Given the description of an element on the screen output the (x, y) to click on. 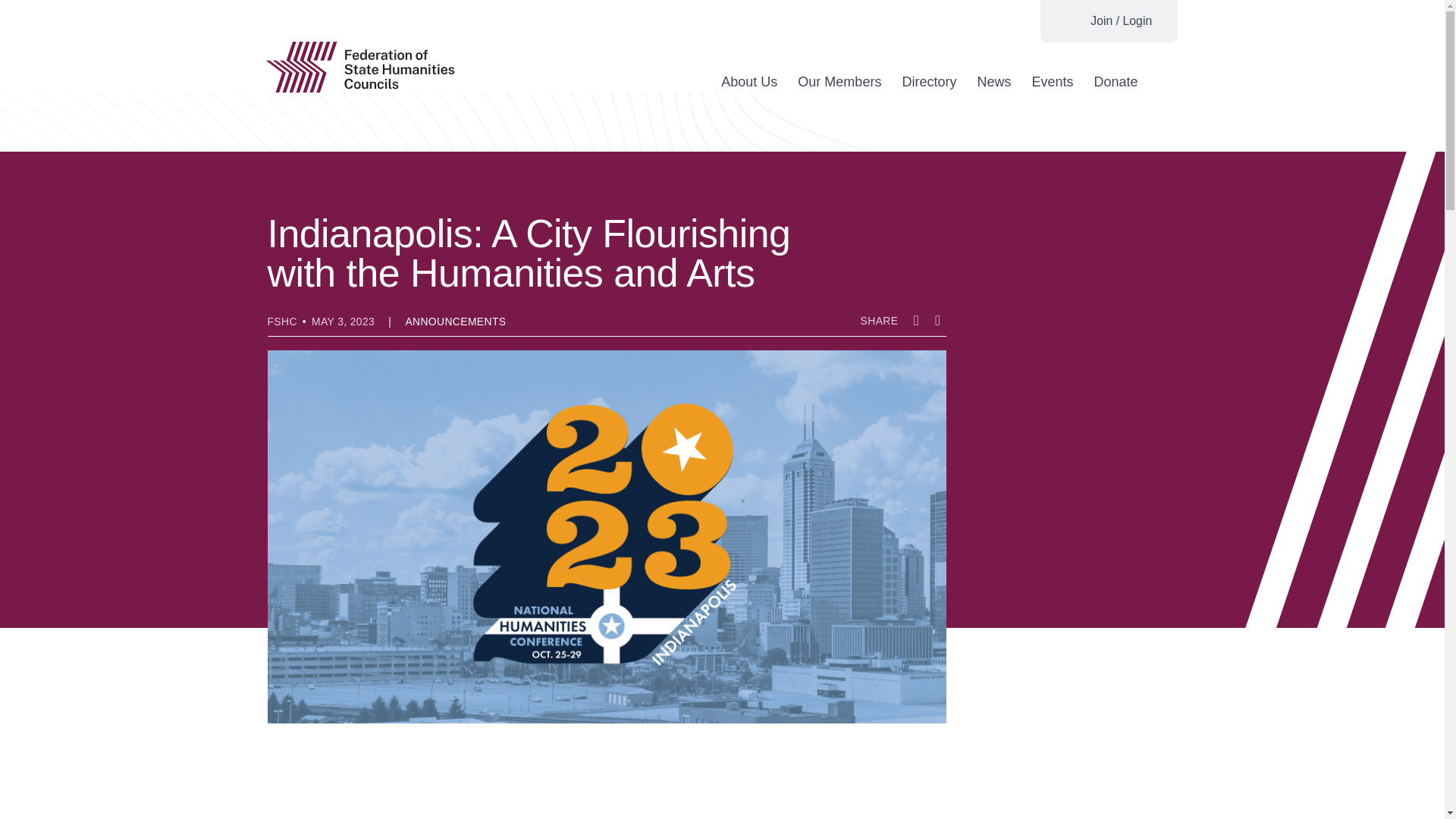
Directory (928, 81)
Donate (1115, 81)
Our Members (838, 81)
About Us (748, 81)
ANNOUNCEMENTS (454, 321)
News (993, 81)
Events (1051, 81)
